Given the description of an element on the screen output the (x, y) to click on. 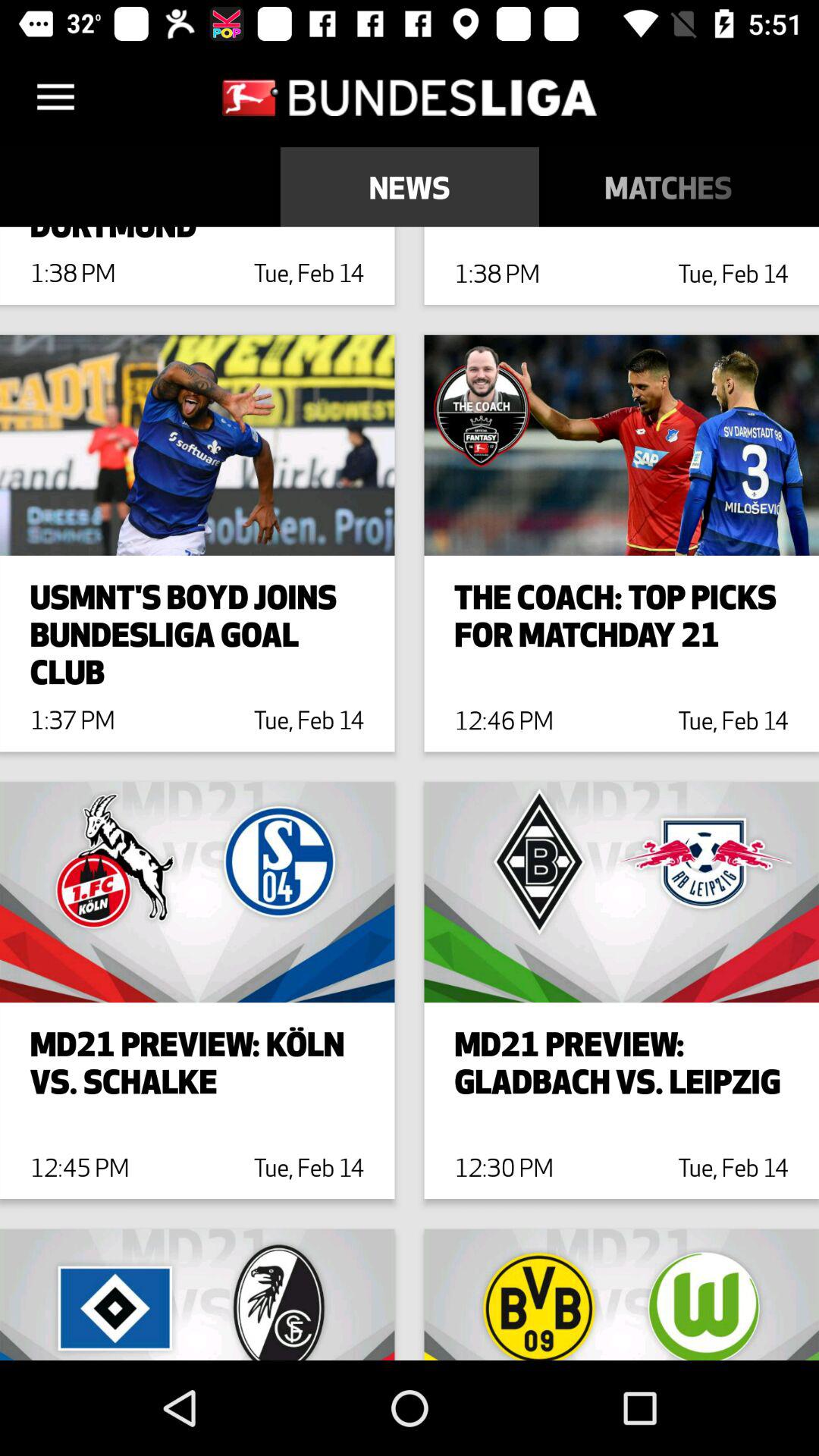
turn off icon above dembele indespensible to (409, 186)
